Given the description of an element on the screen output the (x, y) to click on. 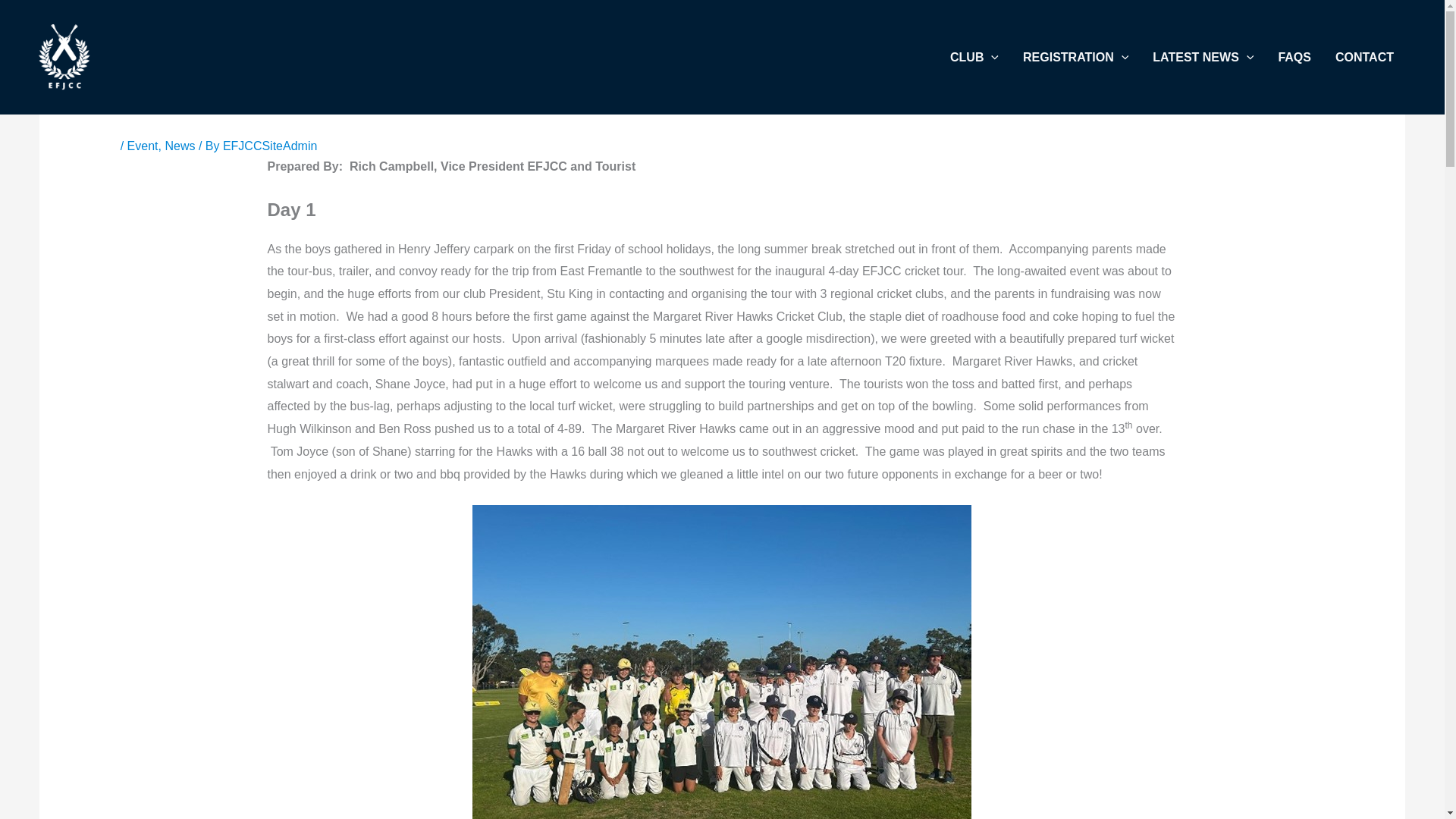
REGISTRATION (1075, 57)
CONTACT (1364, 57)
LATEST NEWS (1202, 57)
EFJCCSiteAdmin (269, 145)
FAQS (1294, 57)
Event (143, 145)
CLUB (973, 57)
News (179, 145)
View all posts by EFJCCSiteAdmin (269, 145)
